Given the description of an element on the screen output the (x, y) to click on. 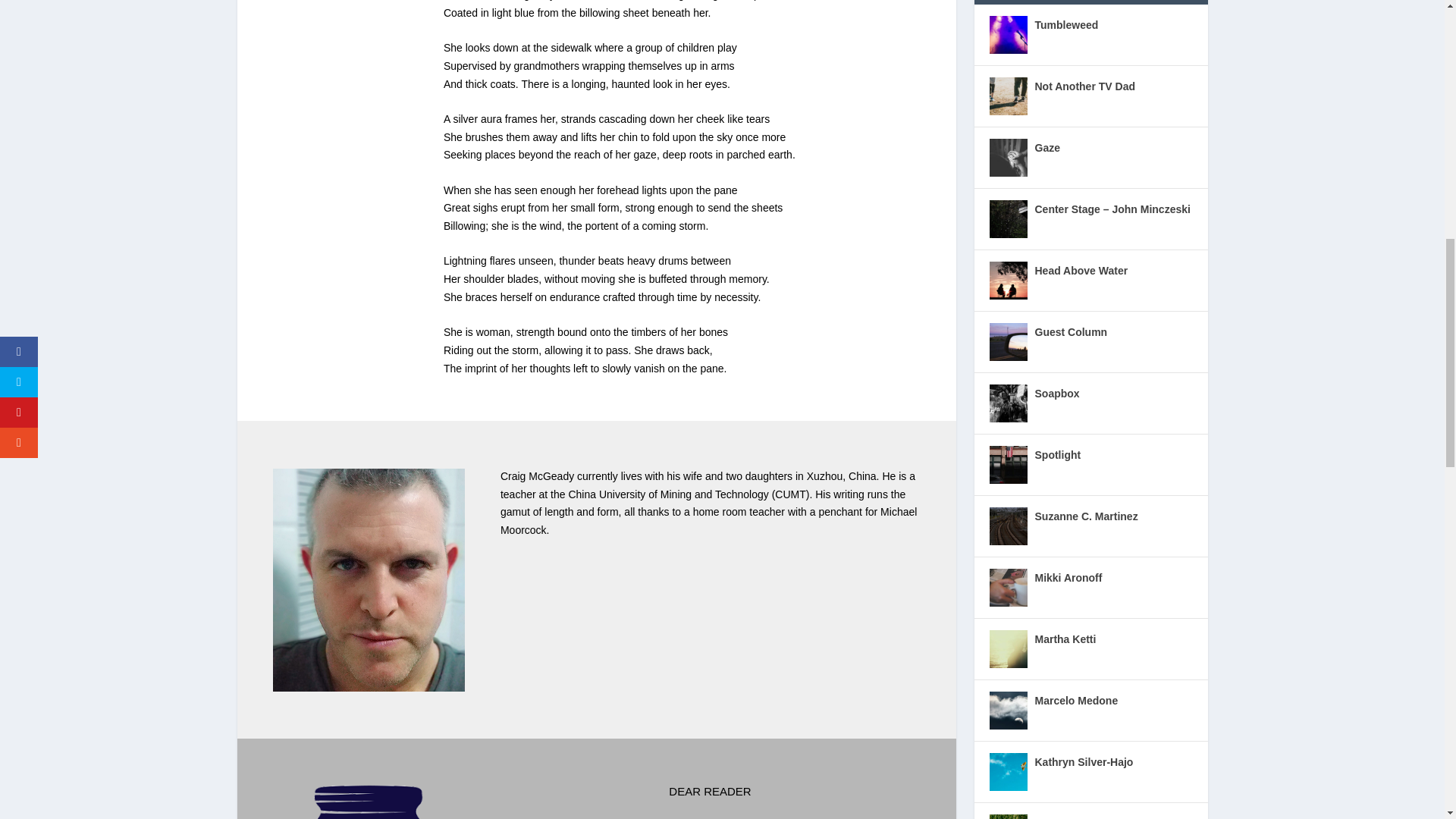
Mikki Aronoff (1007, 587)
Soapbox (1007, 403)
Suzanne C. Martinez (1007, 525)
Martha Ketti (1007, 648)
Not Another TV Dad (1007, 95)
Guest Column (1007, 341)
Tumbleweed (1007, 34)
Gaze (1007, 157)
Head Above Water (1007, 280)
Spotlight (1007, 464)
